Given the description of an element on the screen output the (x, y) to click on. 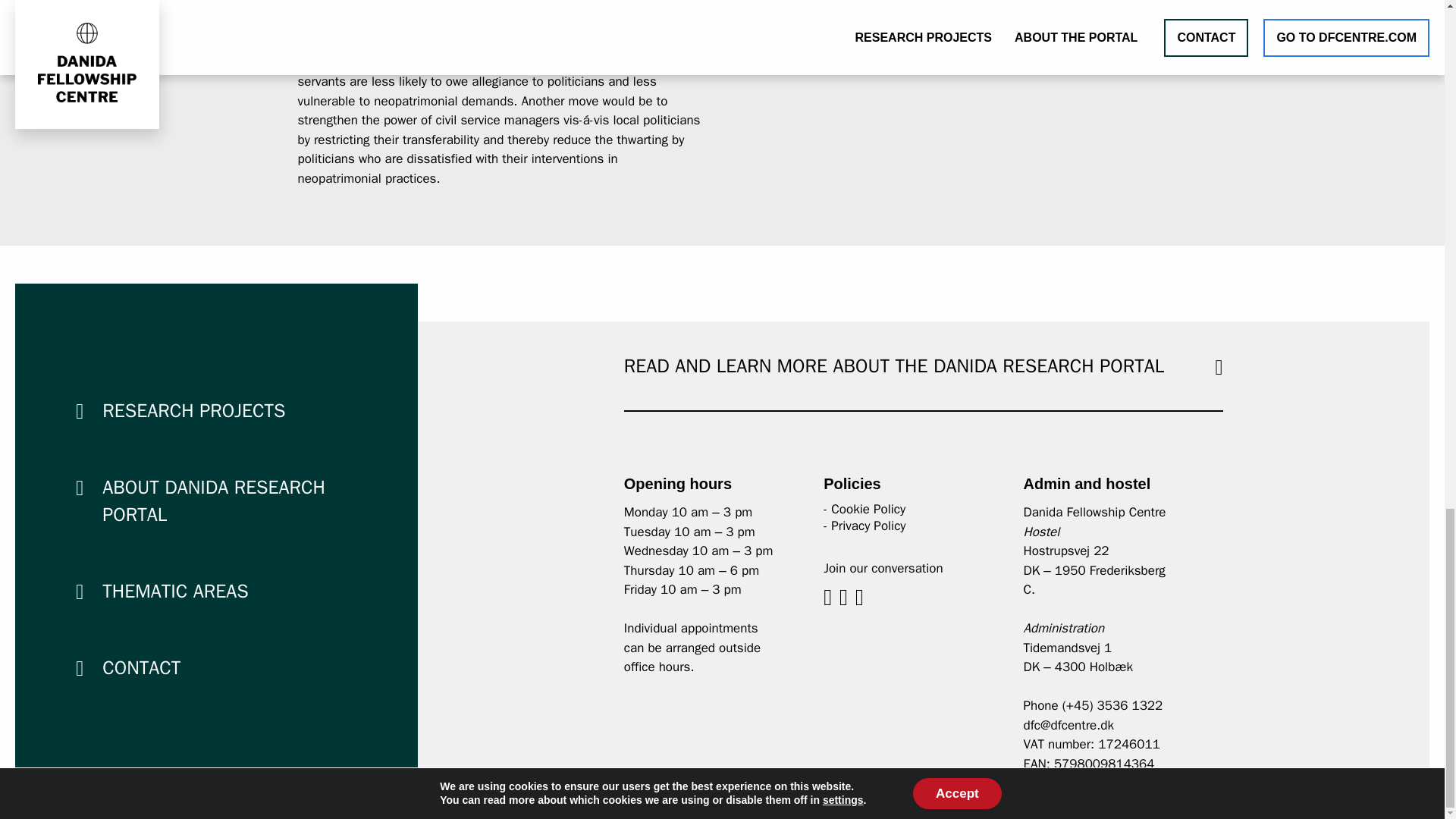
THEMATIC AREAS (174, 590)
RESEARCH PROJECTS (193, 409)
Privacy Policy (868, 525)
Cookie Policy (868, 508)
ABOUT DANIDA RESEARCH PORTAL (212, 500)
CONTACT (140, 667)
READ AND LEARN MORE ABOUT THE DANIDA RESEARCH PORTAL (893, 365)
